Given the description of an element on the screen output the (x, y) to click on. 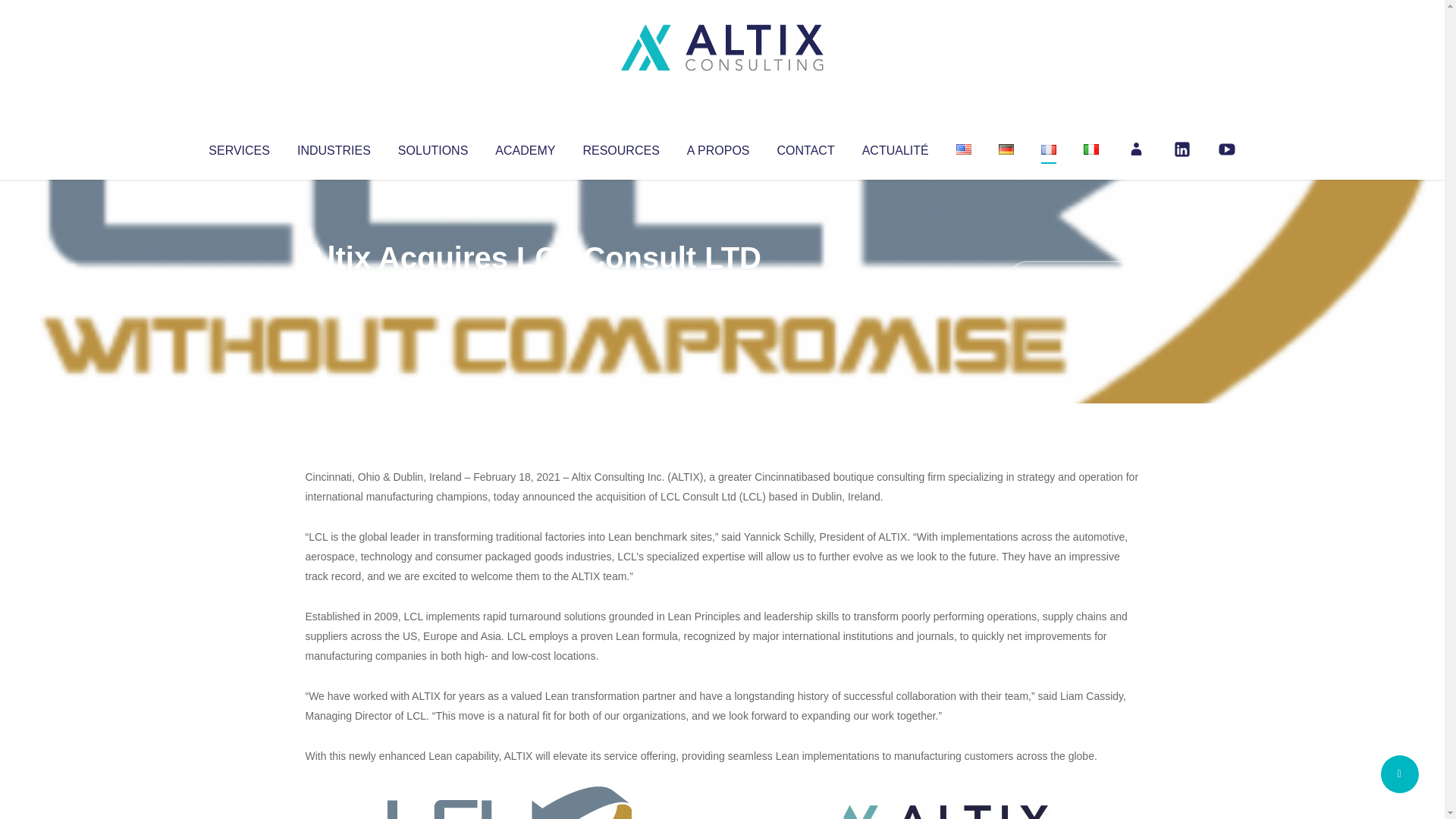
Uncategorized (530, 287)
A PROPOS (718, 146)
Articles par Altix (333, 287)
RESOURCES (620, 146)
ACADEMY (524, 146)
No Comments (1073, 278)
SERVICES (238, 146)
Altix (333, 287)
SOLUTIONS (432, 146)
INDUSTRIES (334, 146)
